Given the description of an element on the screen output the (x, y) to click on. 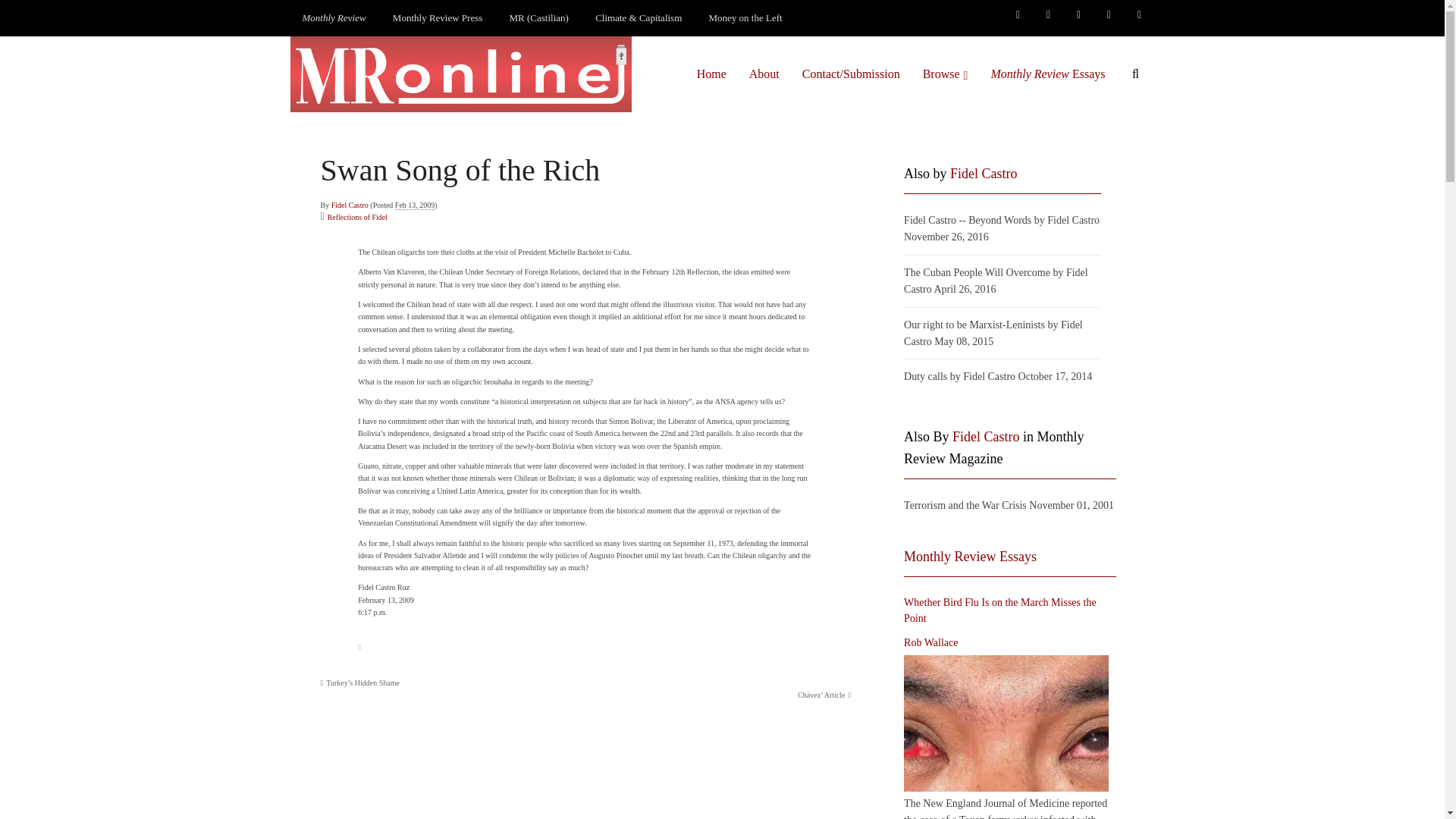
About (764, 74)
Home (711, 74)
Posts by Rob Wallace (931, 642)
Home (711, 74)
Browse (945, 74)
Money on the Left (745, 18)
Monthly Review Magazine (333, 18)
Whether Bird Flu Is on the March Misses the Point (1006, 723)
Monthly Review (333, 18)
Monthly Review Press (437, 18)
